Given the description of an element on the screen output the (x, y) to click on. 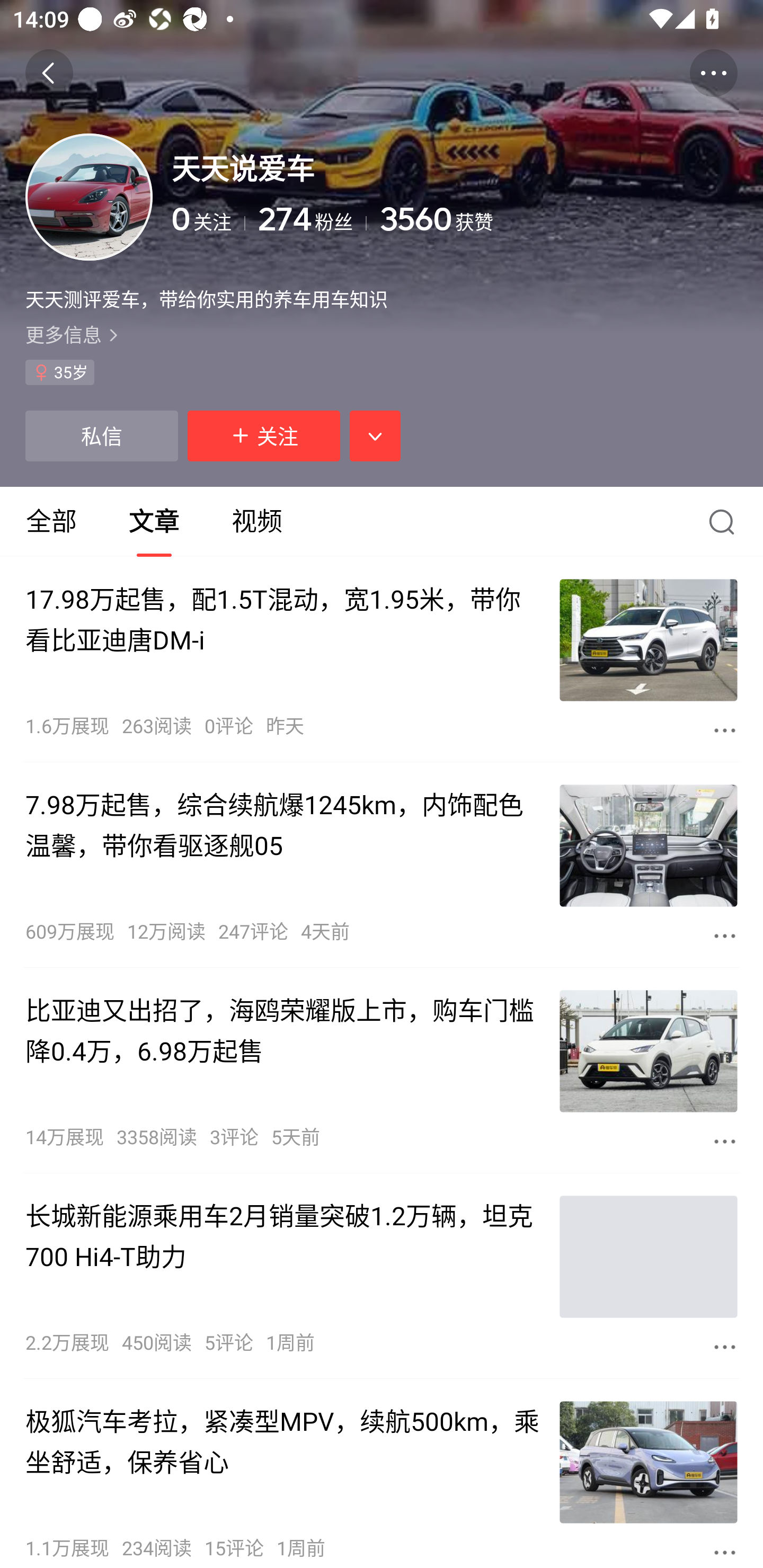
返回 (49, 72)
更多操作 (713, 72)
头像 (88, 196)
0 关注 (208, 219)
274 粉丝 (312, 219)
3560 获赞 (558, 219)
更多信息 (381, 333)
性别女，年龄35岁 35岁 (59, 372)
私信 (101, 435)
     关注 (263, 435)
展开相关推荐，按钮 (374, 435)
全部 (51, 521)
文章 (154, 521)
视频 (256, 521)
搜索 (726, 521)
更多 (724, 729)
更多 (724, 935)
更多 (724, 1141)
更多 (724, 1346)
更多 (724, 1551)
